Given the description of an element on the screen output the (x, y) to click on. 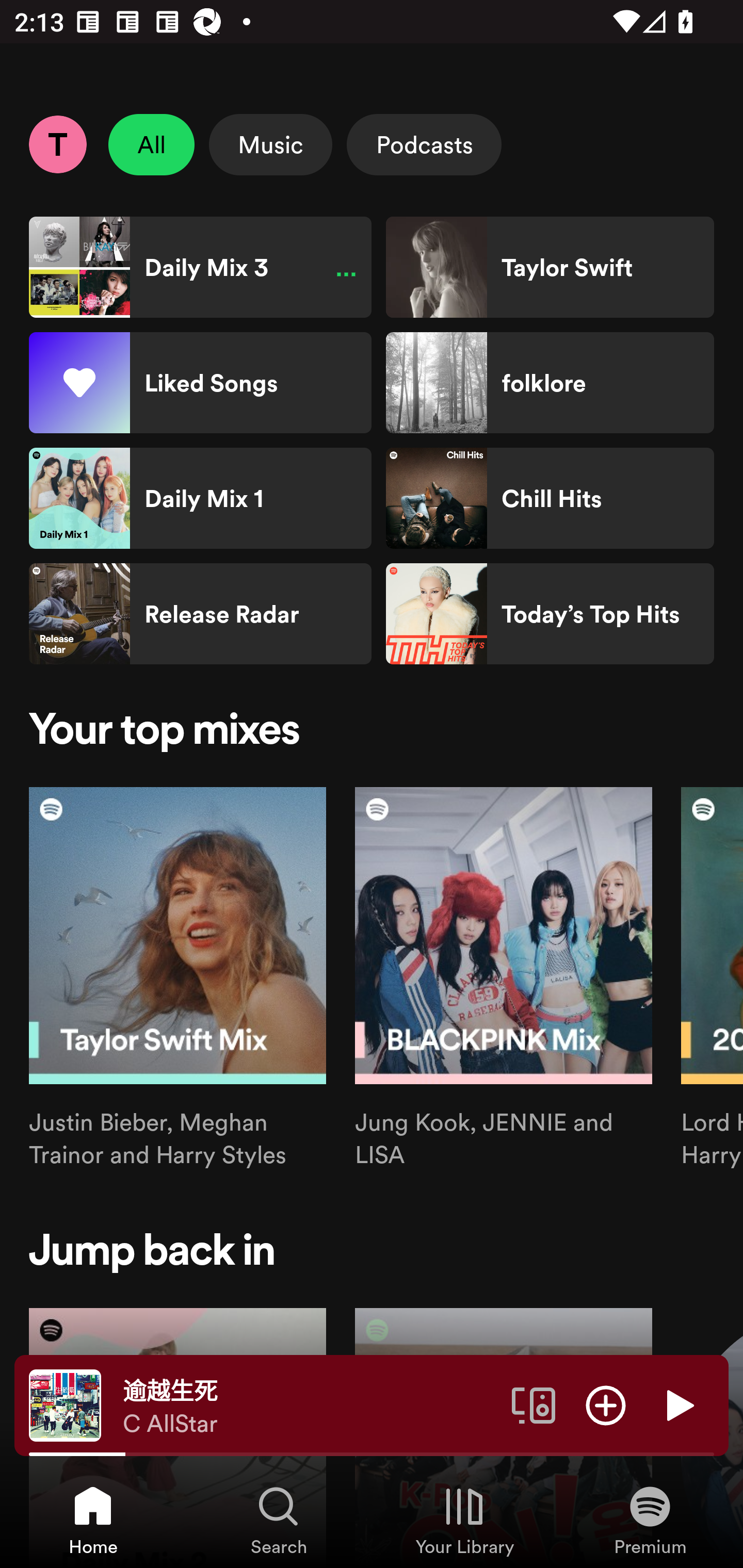
Profile (57, 144)
All Unselect All (151, 144)
Music Select Music (270, 144)
Podcasts Select Podcasts (423, 144)
Daily Mix 3 Shortcut Daily Mix 3 Paused (199, 267)
Taylor Swift Shortcut Taylor Swift (549, 267)
Liked Songs Shortcut Liked Songs (199, 382)
folklore Shortcut folklore (549, 382)
Daily Mix 1 Shortcut Daily Mix 1 (199, 498)
Chill Hits Shortcut Chill Hits (549, 498)
Release Radar Shortcut Release Radar (199, 613)
Today’s Top Hits Shortcut Today’s Top Hits (549, 613)
逾越生死 C AllStar (309, 1405)
The cover art of the currently playing track (64, 1404)
Connect to a device. Opens the devices menu (533, 1404)
Add item (605, 1404)
Play (677, 1404)
Home, Tab 1 of 4 Home Home (92, 1519)
Search, Tab 2 of 4 Search Search (278, 1519)
Your Library, Tab 3 of 4 Your Library Your Library (464, 1519)
Premium, Tab 4 of 4 Premium Premium (650, 1519)
